Given the description of an element on the screen output the (x, y) to click on. 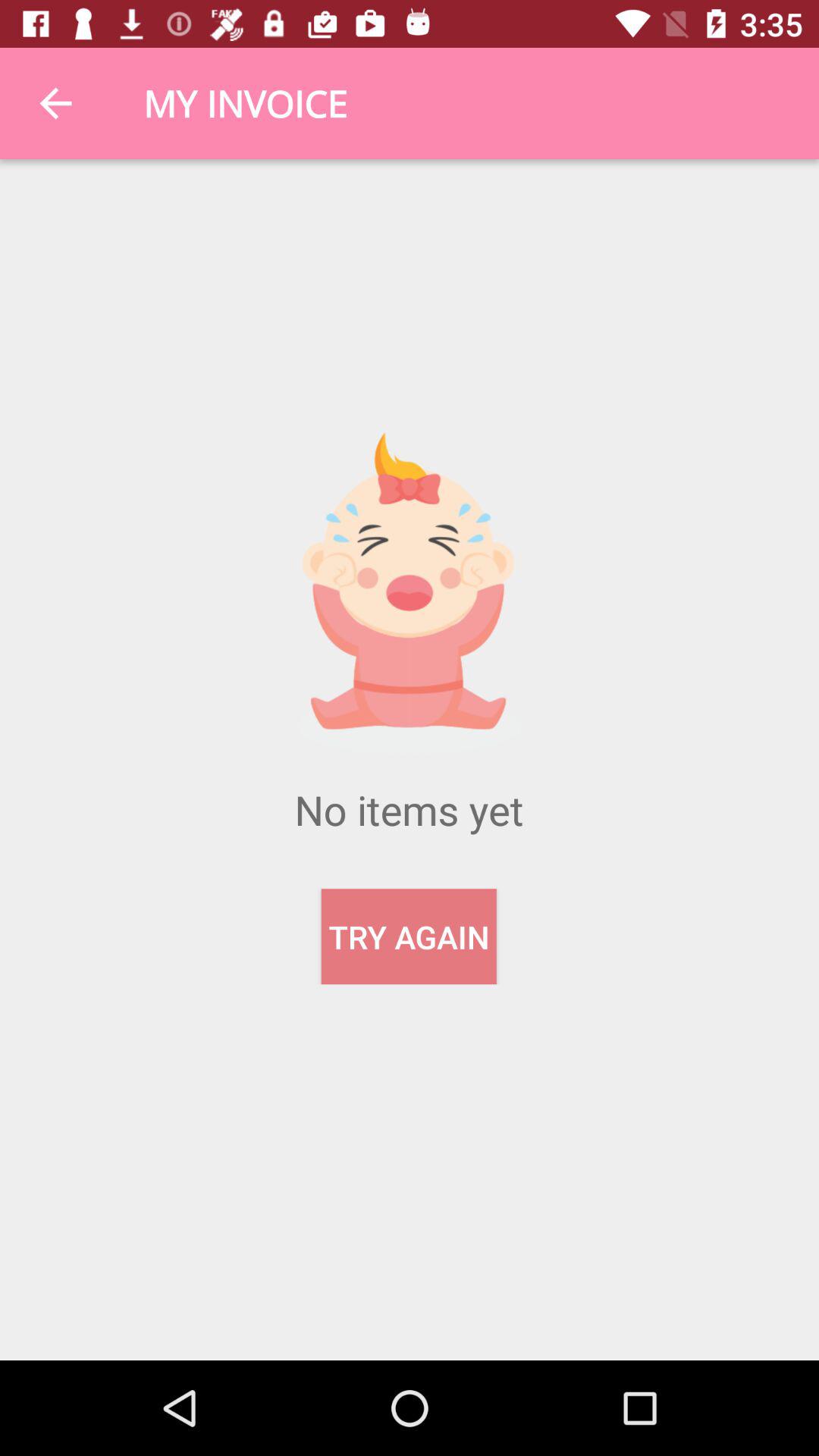
turn on item below no items yet icon (408, 936)
